Given the description of an element on the screen output the (x, y) to click on. 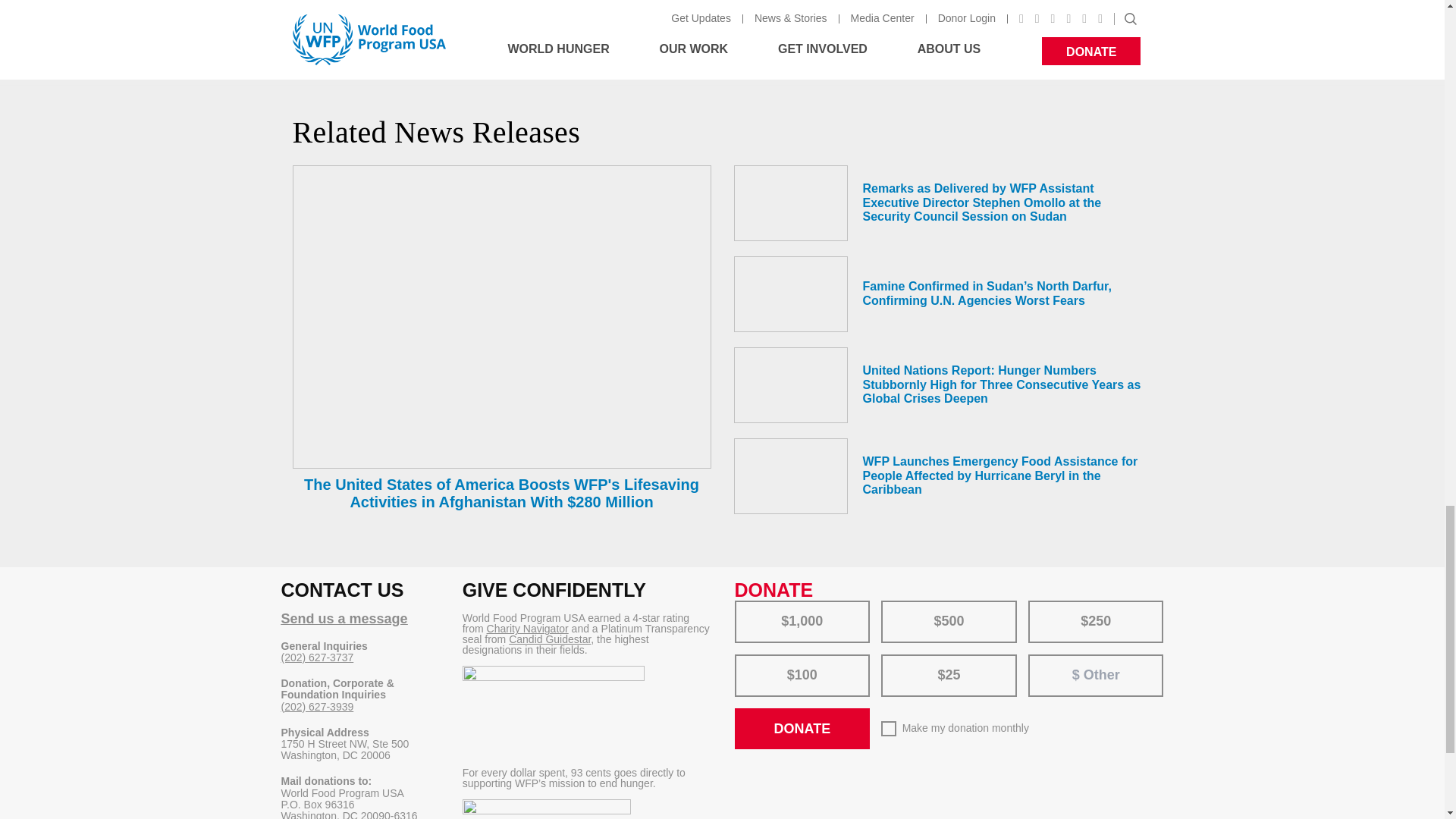
500 (891, 605)
custom (1046, 660)
100 (744, 659)
25 (891, 659)
250 (1038, 605)
1,000 (744, 605)
